Given the description of an element on the screen output the (x, y) to click on. 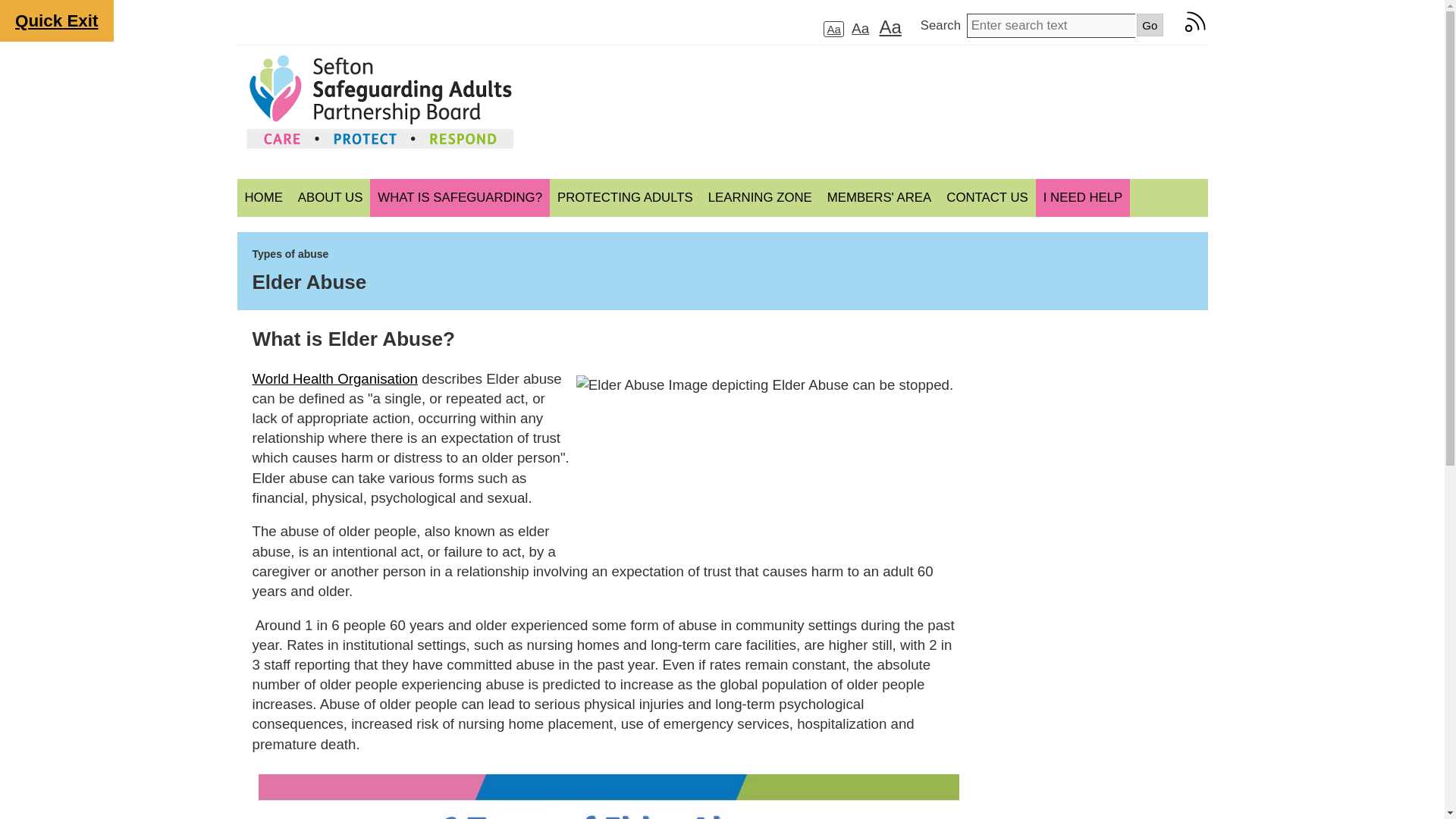
I NEED HELP (1082, 198)
MEMBERS' AREA (879, 198)
Hide this page - This will take you to the google website (56, 20)
RSS feed (1195, 28)
PROTECTING ADULTS (625, 198)
ABOUT US (329, 198)
Aa (889, 26)
Aa (833, 28)
CONTACT US (987, 198)
WHAT IS SAFEGUARDING? (459, 198)
Quick Exit (56, 20)
Make the text size small (833, 28)
Make the text size large (889, 26)
HOME (262, 198)
Make the text size medium (859, 27)
